Given the description of an element on the screen output the (x, y) to click on. 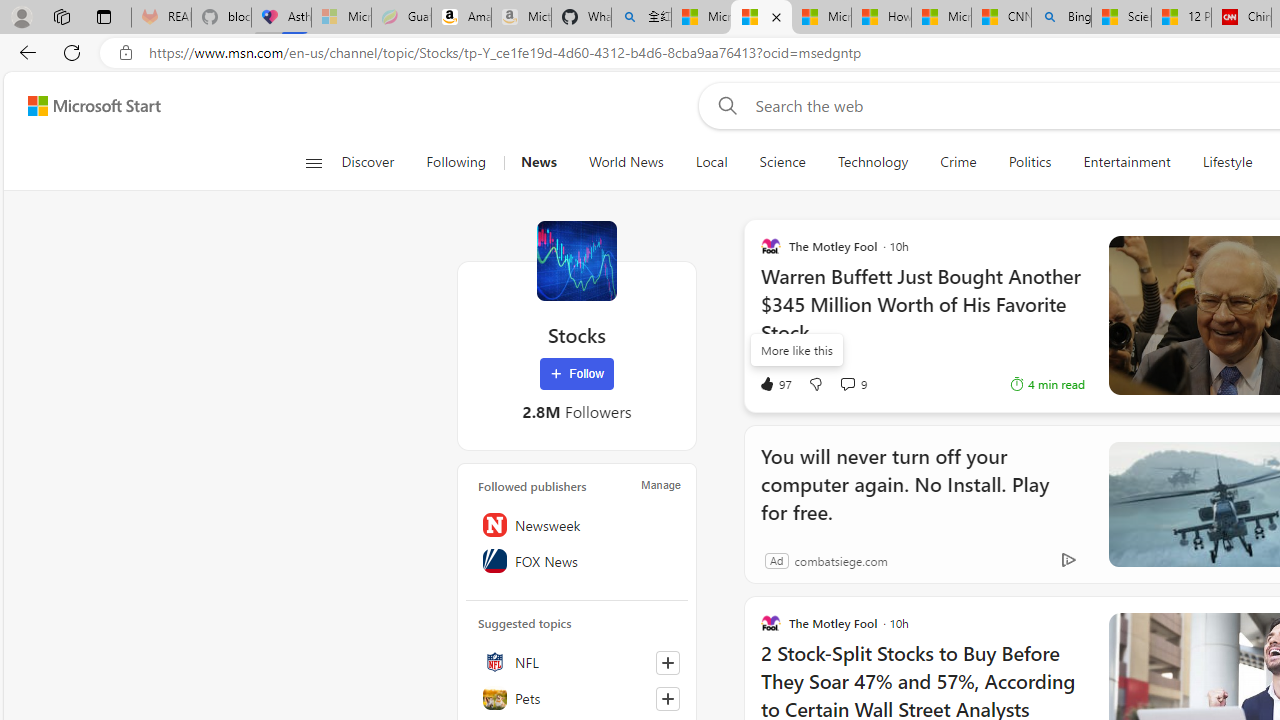
combatsiege.com (840, 560)
